Given the description of an element on the screen output the (x, y) to click on. 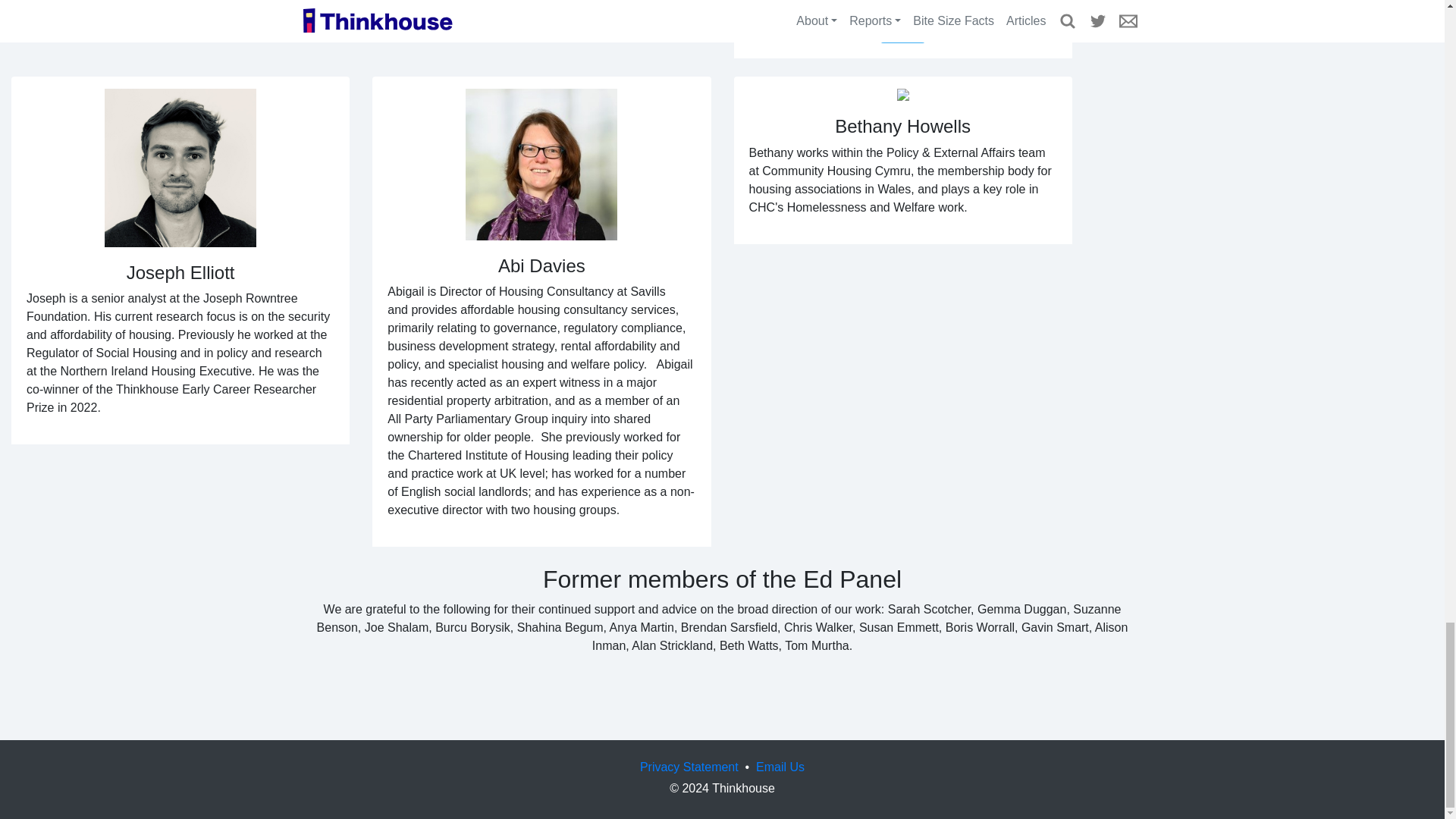
Privacy Statement (689, 766)
Twitter (902, 31)
